Given the description of an element on the screen output the (x, y) to click on. 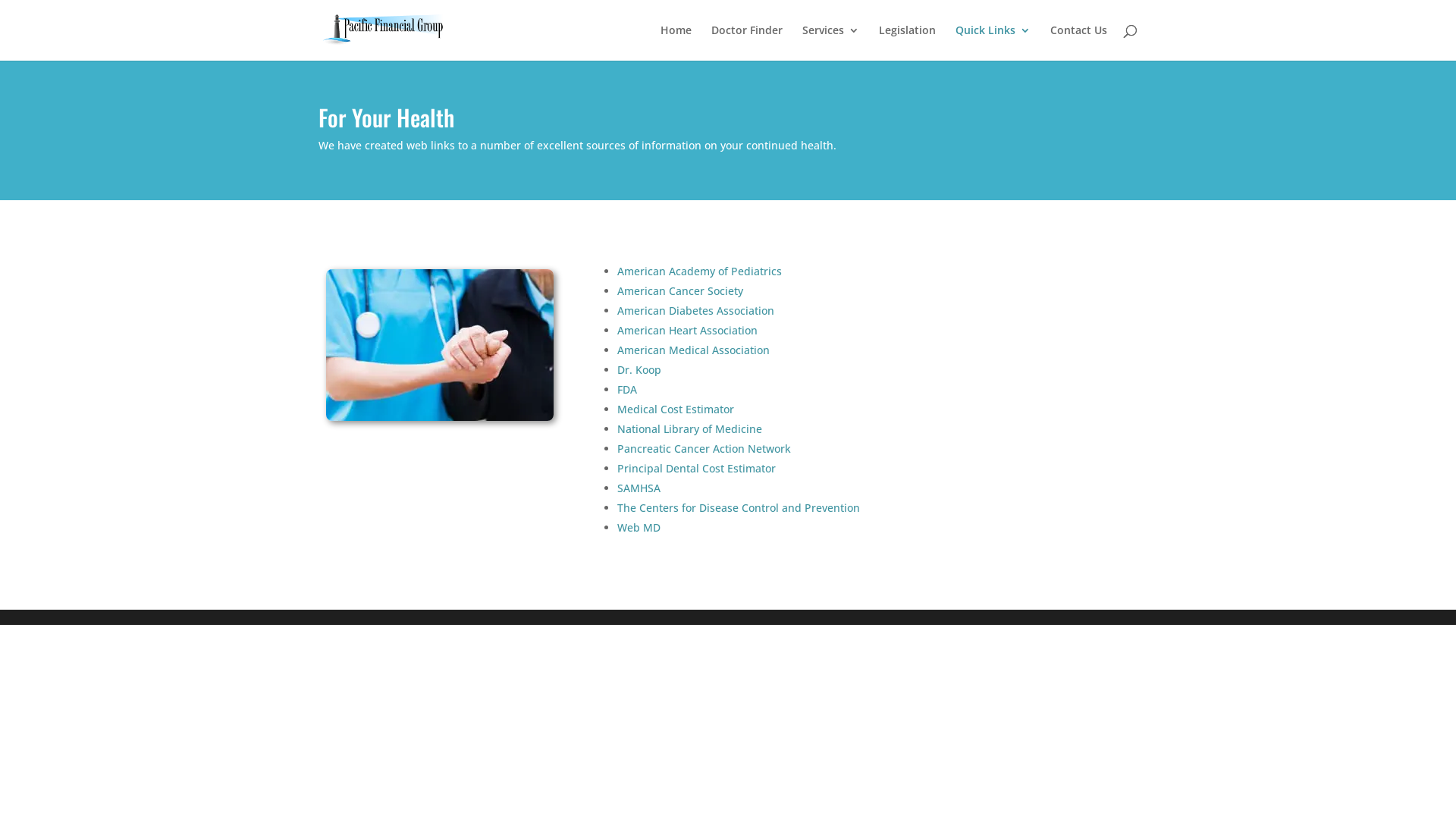
American Diabetes Association Element type: text (695, 310)
National Library of Medicine Element type: text (689, 428)
Legislation Element type: text (906, 42)
Principal Dental Cost Estimator Element type: text (696, 468)
Medical Cost Estimator Element type: text (675, 408)
Quick Links Element type: text (992, 42)
Contact Us Element type: text (1078, 42)
American Cancer Society Element type: text (680, 290)
Doctor Finder Element type: text (746, 42)
Web MD Element type: text (638, 527)
American Heart Association  Element type: text (688, 330)
SAMHSA Element type: text (638, 487)
The Centers for Disease Control and Prevention Element type: text (738, 507)
Services Element type: text (830, 42)
Pancreatic Cancer Action Network Element type: text (703, 448)
FDA Element type: text (627, 389)
American Medical Association Element type: text (693, 349)
American Academy of Pediatrics Element type: text (699, 270)
Home Element type: text (675, 42)
Dr. Koop Element type: text (639, 369)
